Given the description of an element on the screen output the (x, y) to click on. 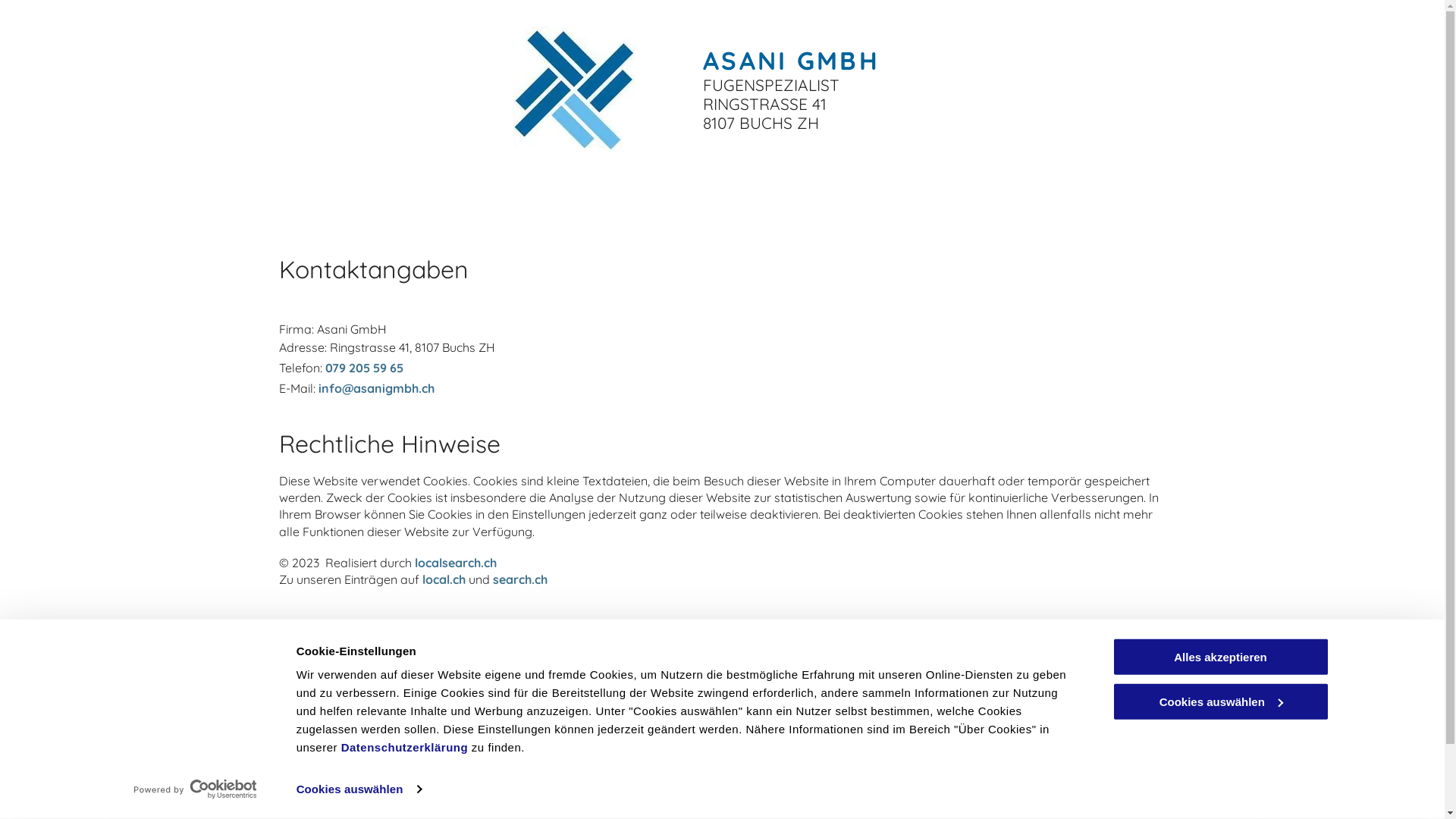
info@asanigmbh.ch Element type: text (561, 795)
Alles akzeptieren Element type: text (1219, 656)
local.ch Element type: text (442, 578)
Impressum Element type: text (983, 744)
info@asanigmbh.ch Element type: text (376, 387)
079 205 59 65 Element type: text (546, 744)
localsearch.ch Element type: text (454, 562)
079 205 59 65 Element type: text (363, 367)
search.ch Element type: text (519, 578)
